Given the description of an element on the screen output the (x, y) to click on. 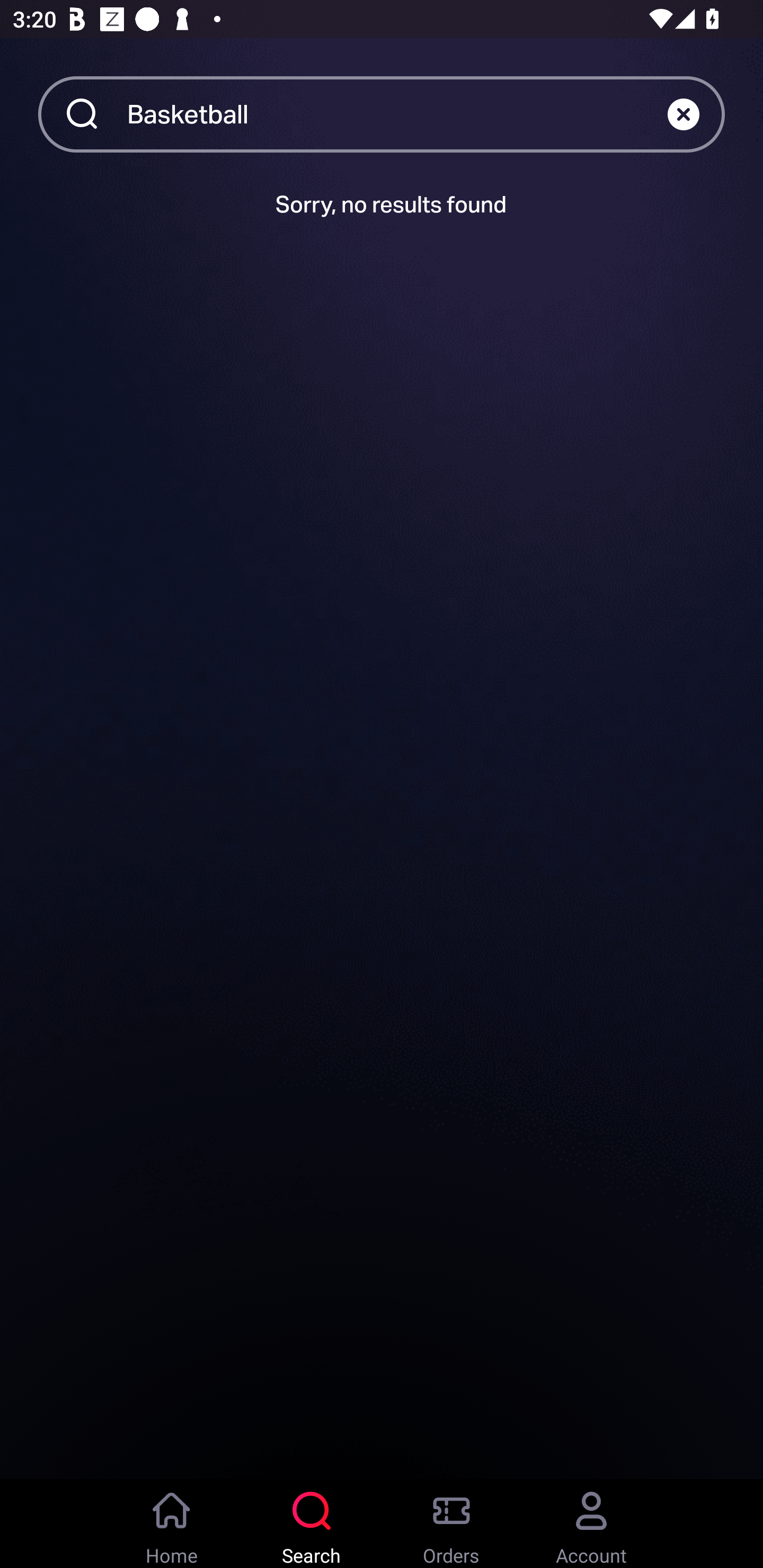
Basketball (397, 113)
Home (171, 1523)
Orders (451, 1523)
Account (591, 1523)
